Given the description of an element on the screen output the (x, y) to click on. 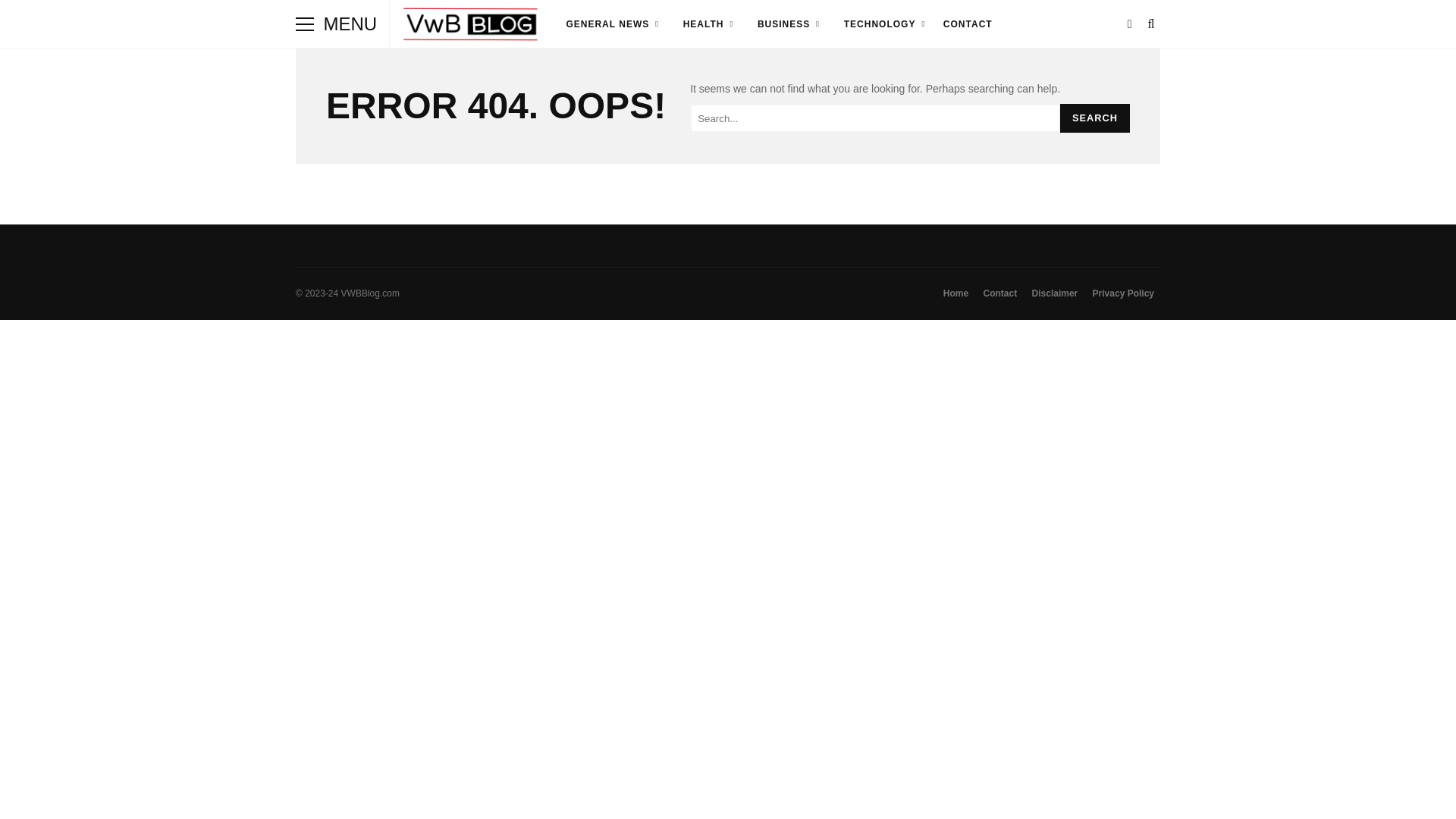
VWB Blog (471, 27)
HEALTH (706, 24)
GENERAL NEWS (609, 24)
CONTACT (967, 24)
BUSINESS (786, 24)
TECHNOLOGY (882, 24)
